Given the description of an element on the screen output the (x, y) to click on. 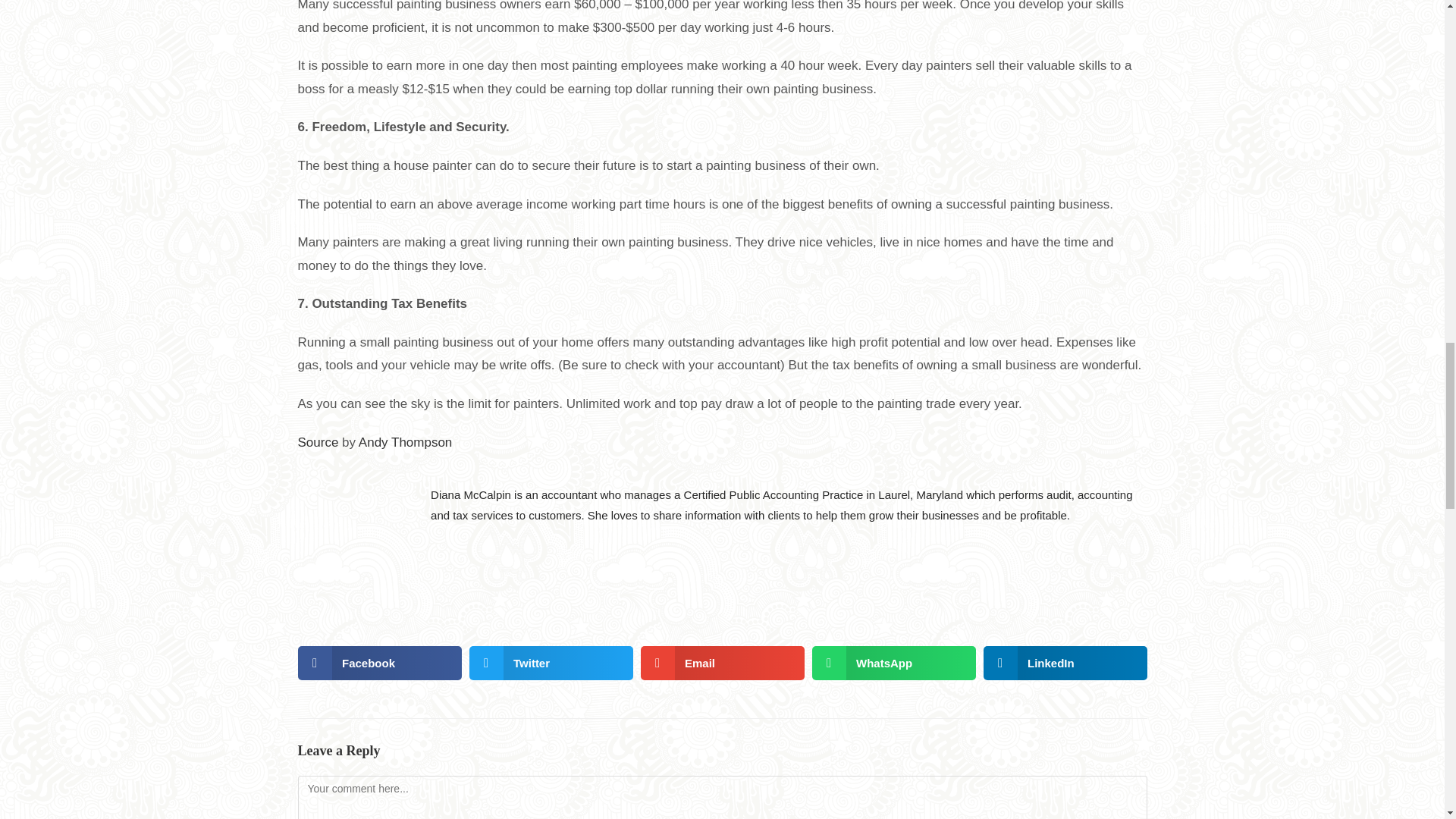
Andy Thompson (404, 441)
Source (317, 441)
